Given the description of an element on the screen output the (x, y) to click on. 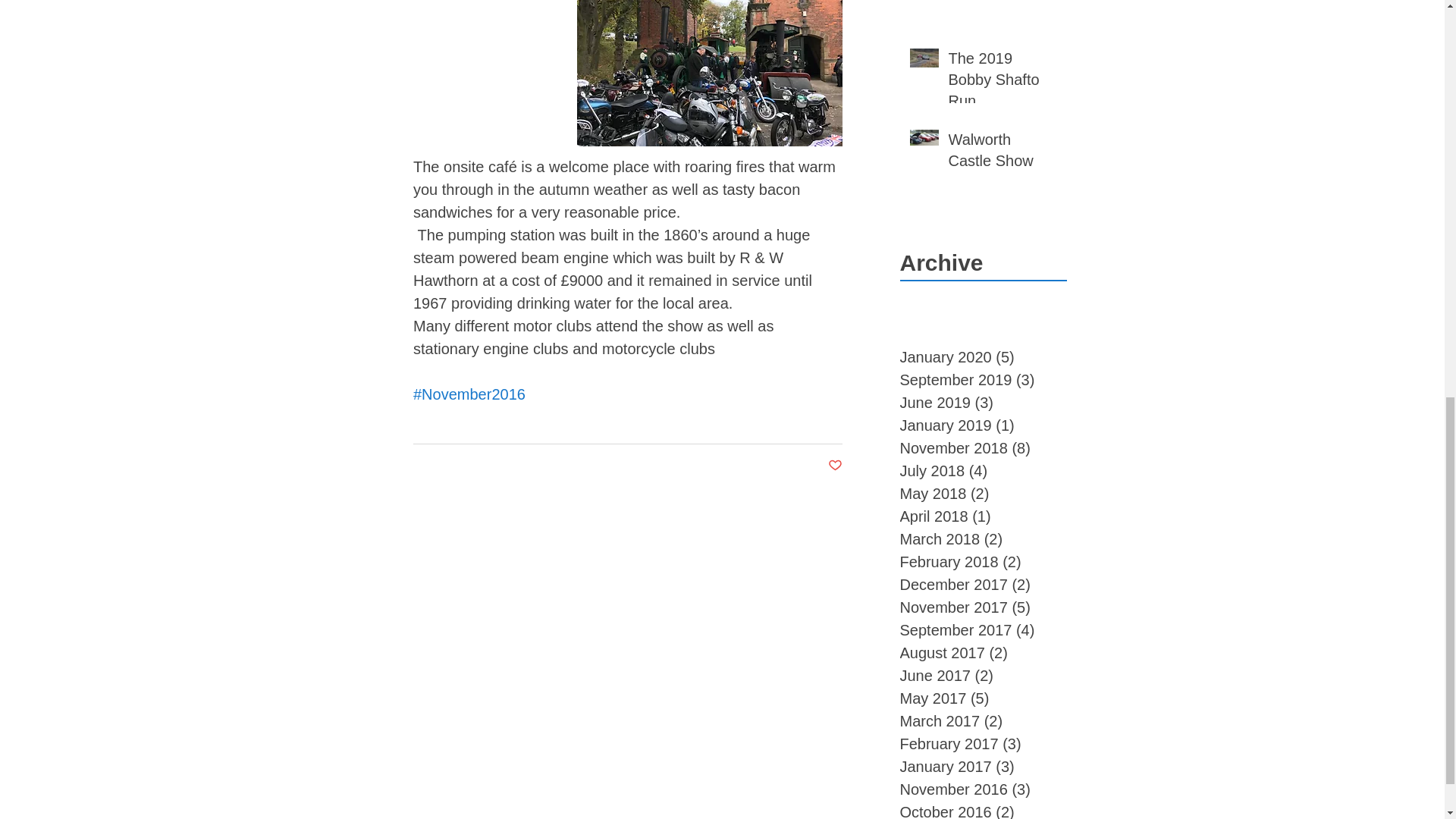
Post not marked as liked (835, 465)
The 2019 Bobby Shafto Run (1002, 82)
Walworth Castle Show (1002, 152)
